Given the description of an element on the screen output the (x, y) to click on. 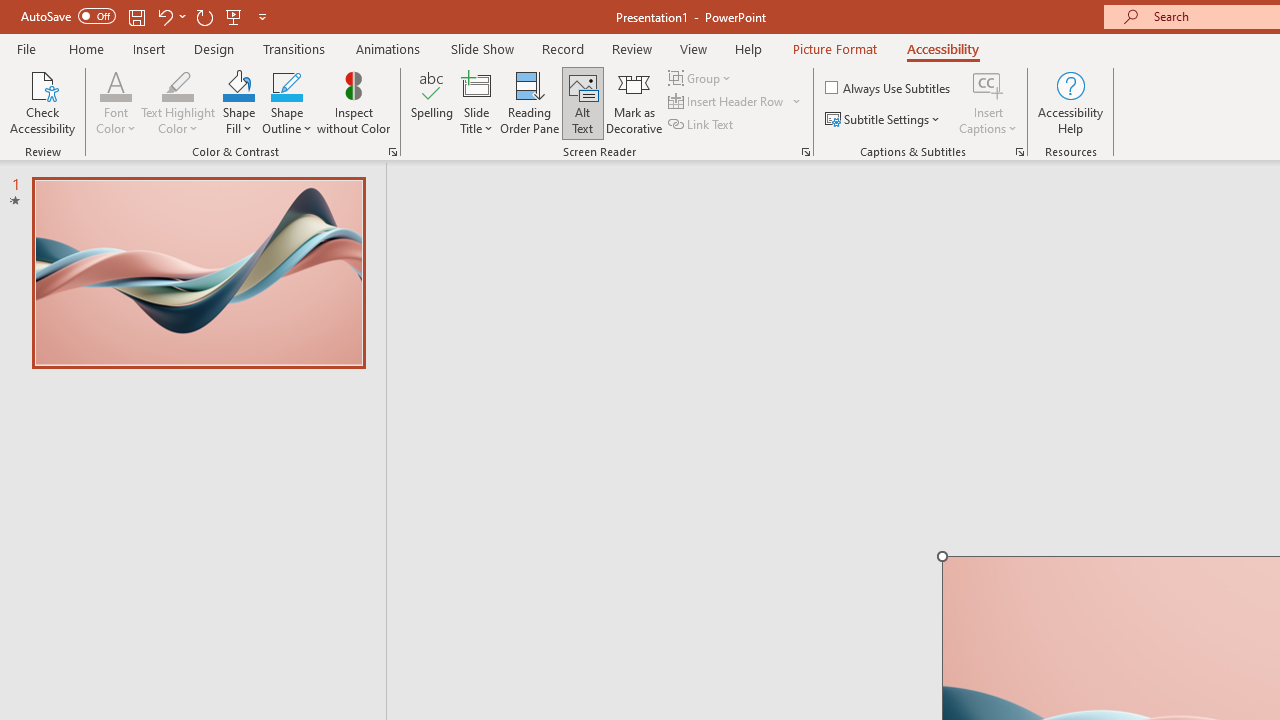
Accessibility Help (1070, 102)
Screen Reader (805, 151)
